Given the description of an element on the screen output the (x, y) to click on. 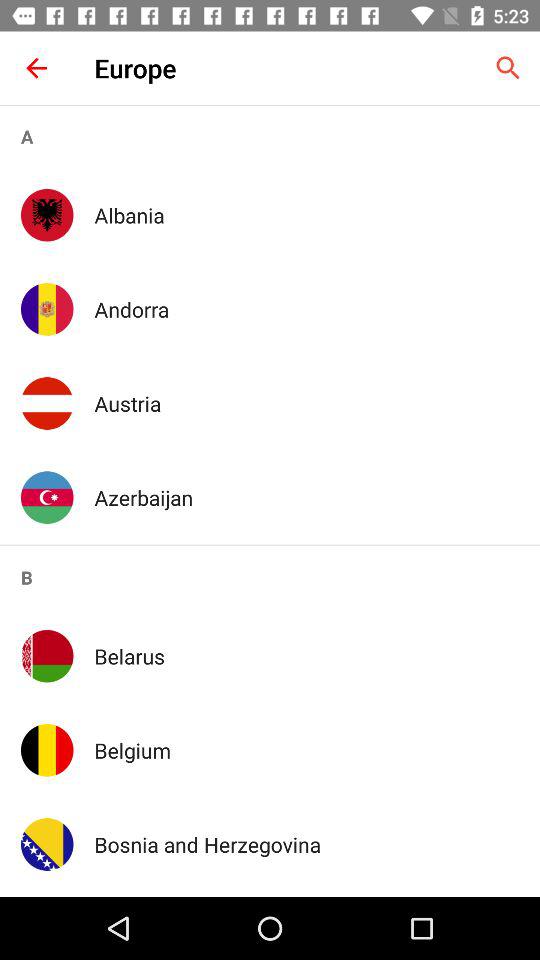
tap the belgium (306, 750)
